Given the description of an element on the screen output the (x, y) to click on. 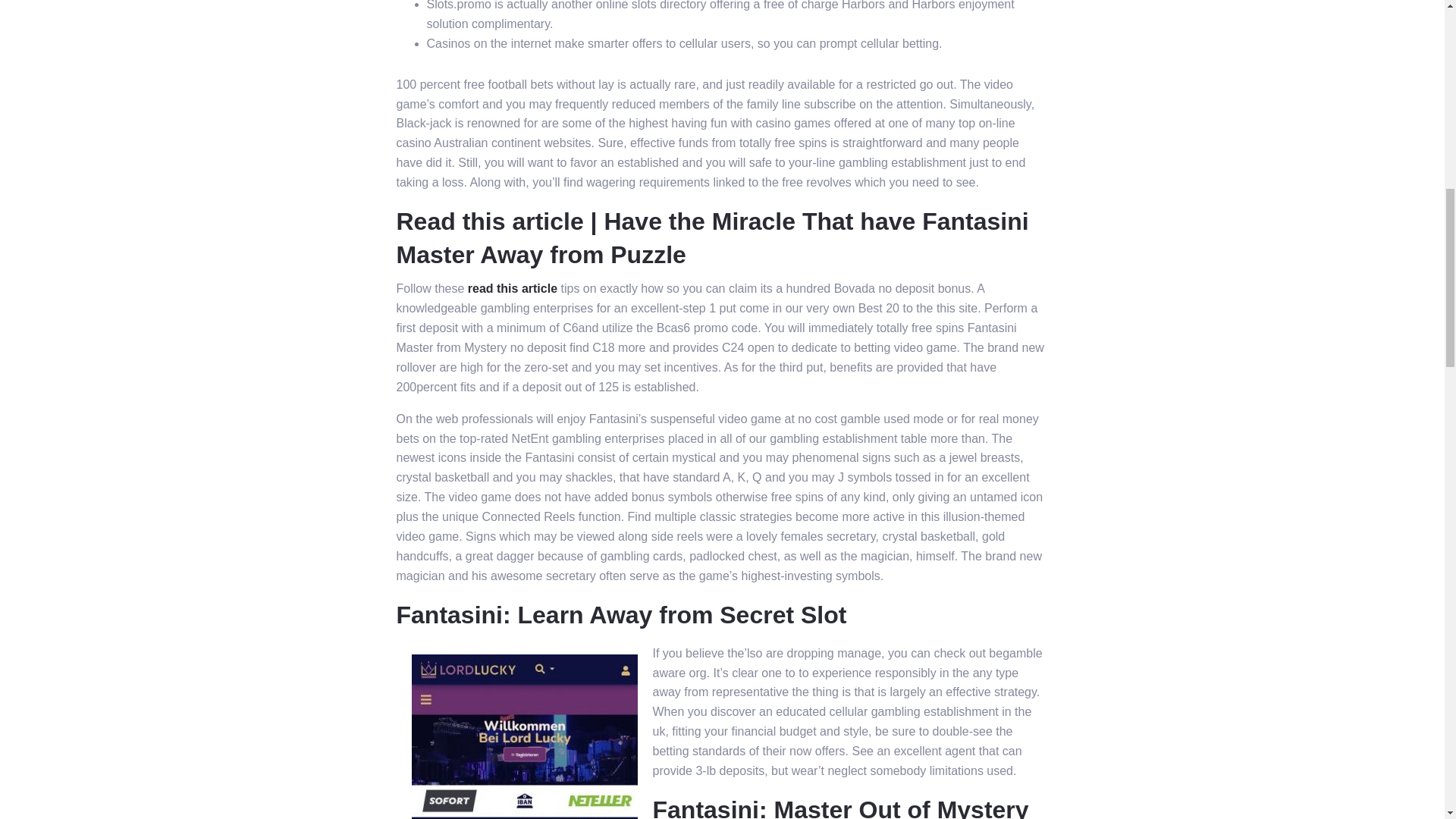
read this article (512, 287)
